Given the description of an element on the screen output the (x, y) to click on. 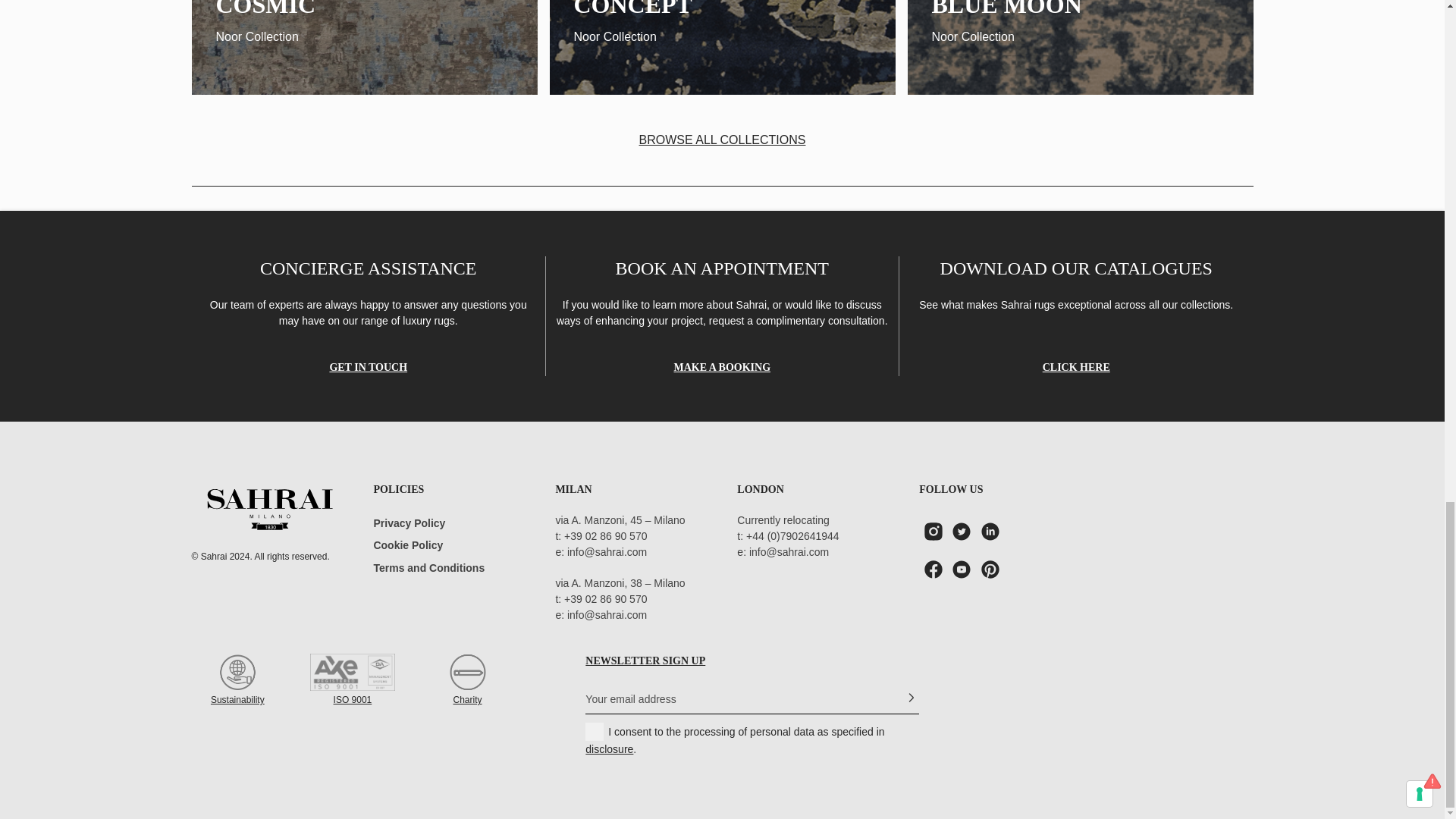
1 (594, 731)
